Given the description of an element on the screen output the (x, y) to click on. 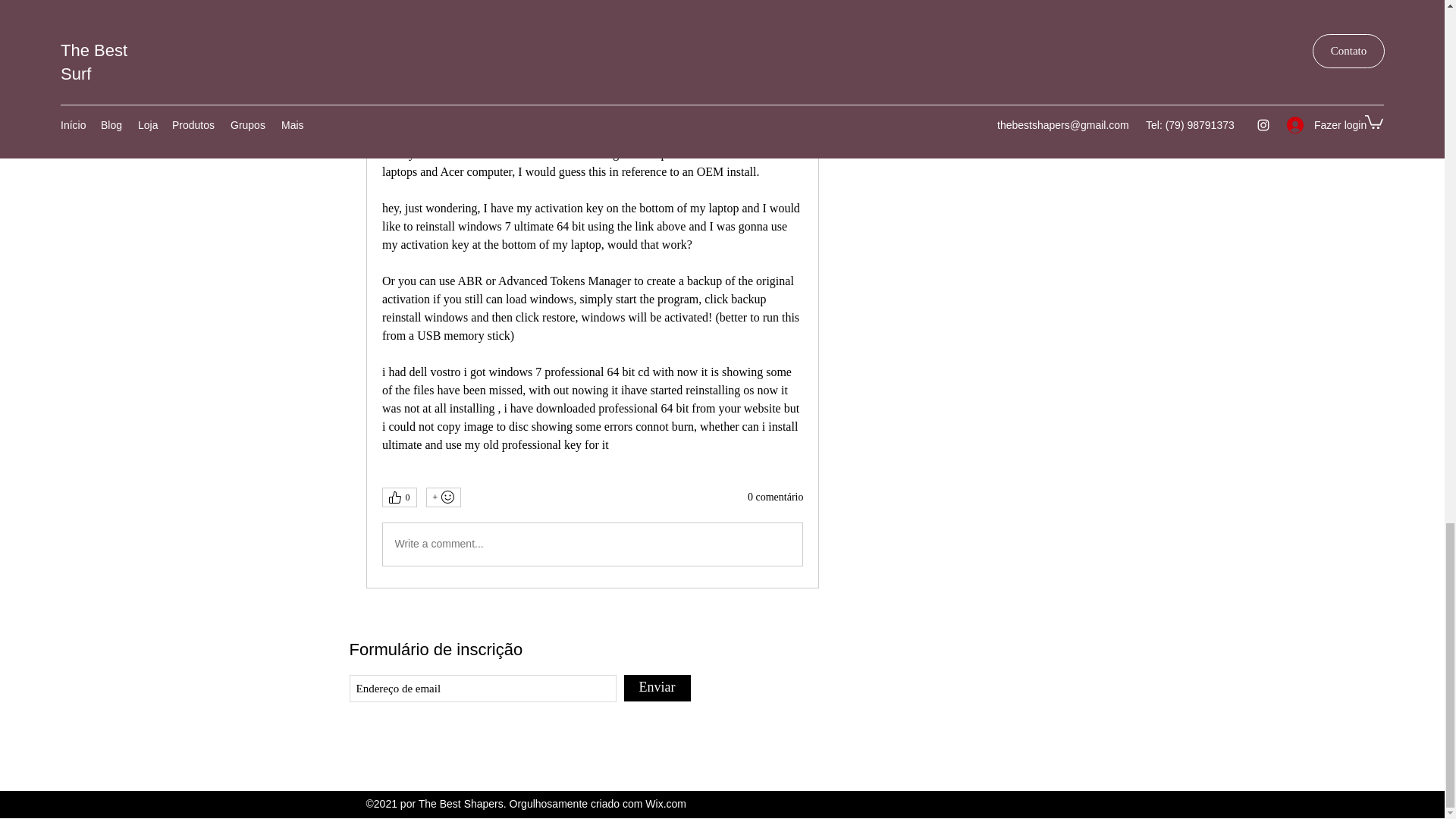
Write a comment... (591, 544)
